Given the description of an element on the screen output the (x, y) to click on. 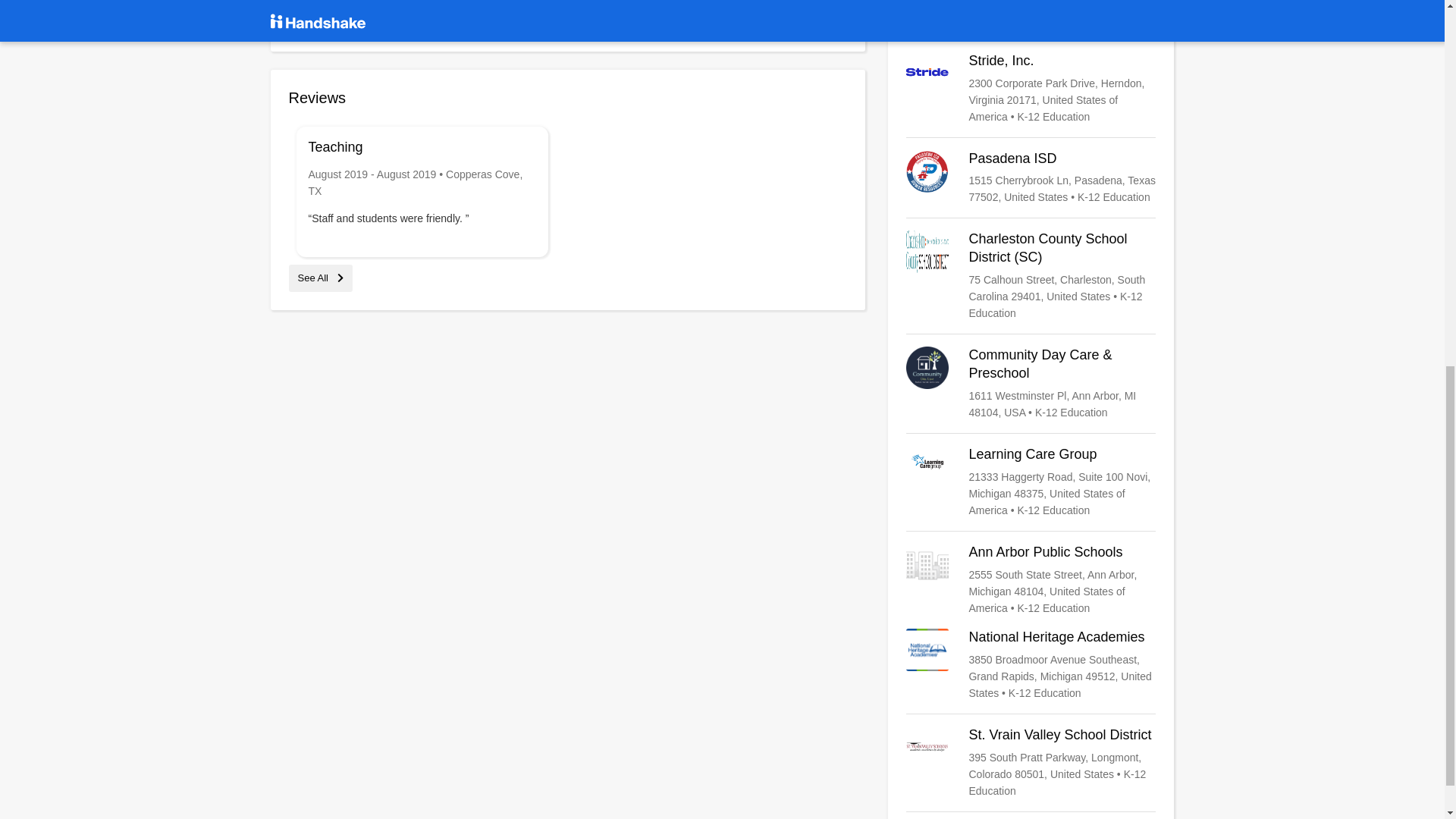
Learning Care Group (1030, 481)
See All (320, 277)
National Heritage Academies (1030, 664)
BASIS Charter Schools (1030, 13)
Stride, Inc. (1030, 88)
St. Vrain Valley School District (1030, 762)
Pasadena ISD (1030, 177)
Ann Arbor Public Schools (1030, 579)
